Given the description of an element on the screen output the (x, y) to click on. 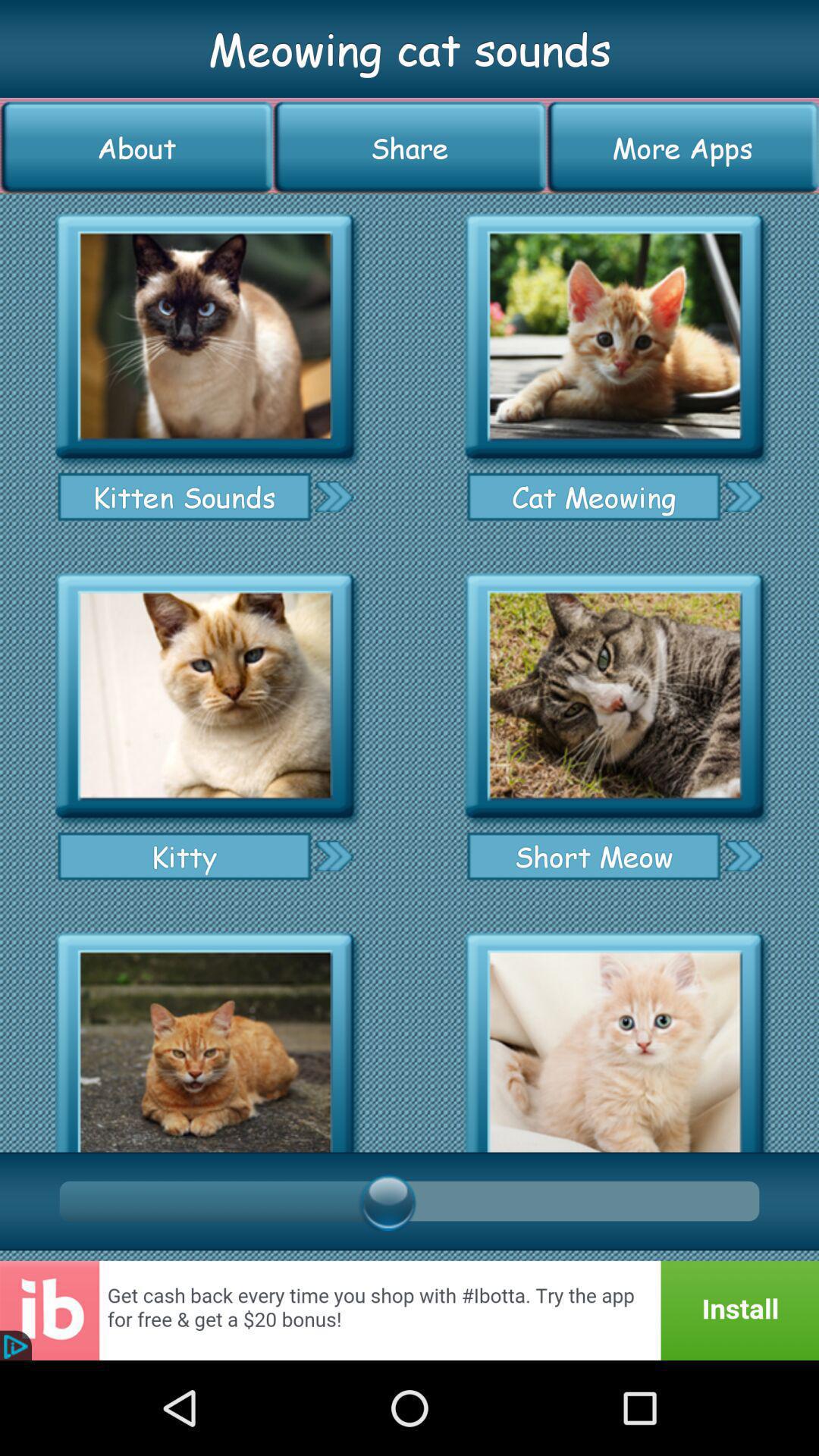
select icon below meowing cat sounds app (409, 147)
